Given the description of an element on the screen output the (x, y) to click on. 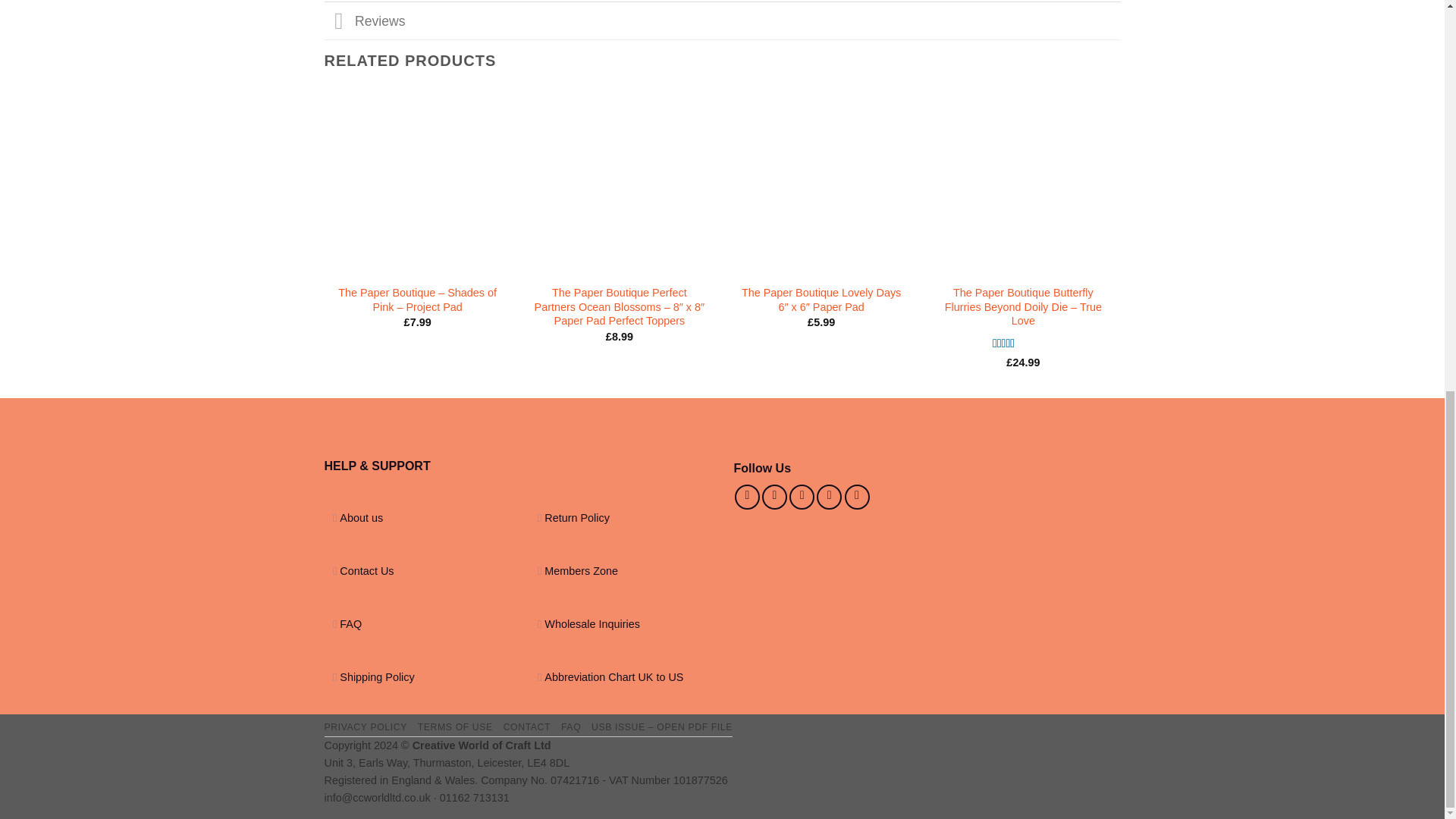
Go to FAQ (350, 623)
Go to About us (360, 517)
Go to Contact Us (366, 571)
